Given the description of an element on the screen output the (x, y) to click on. 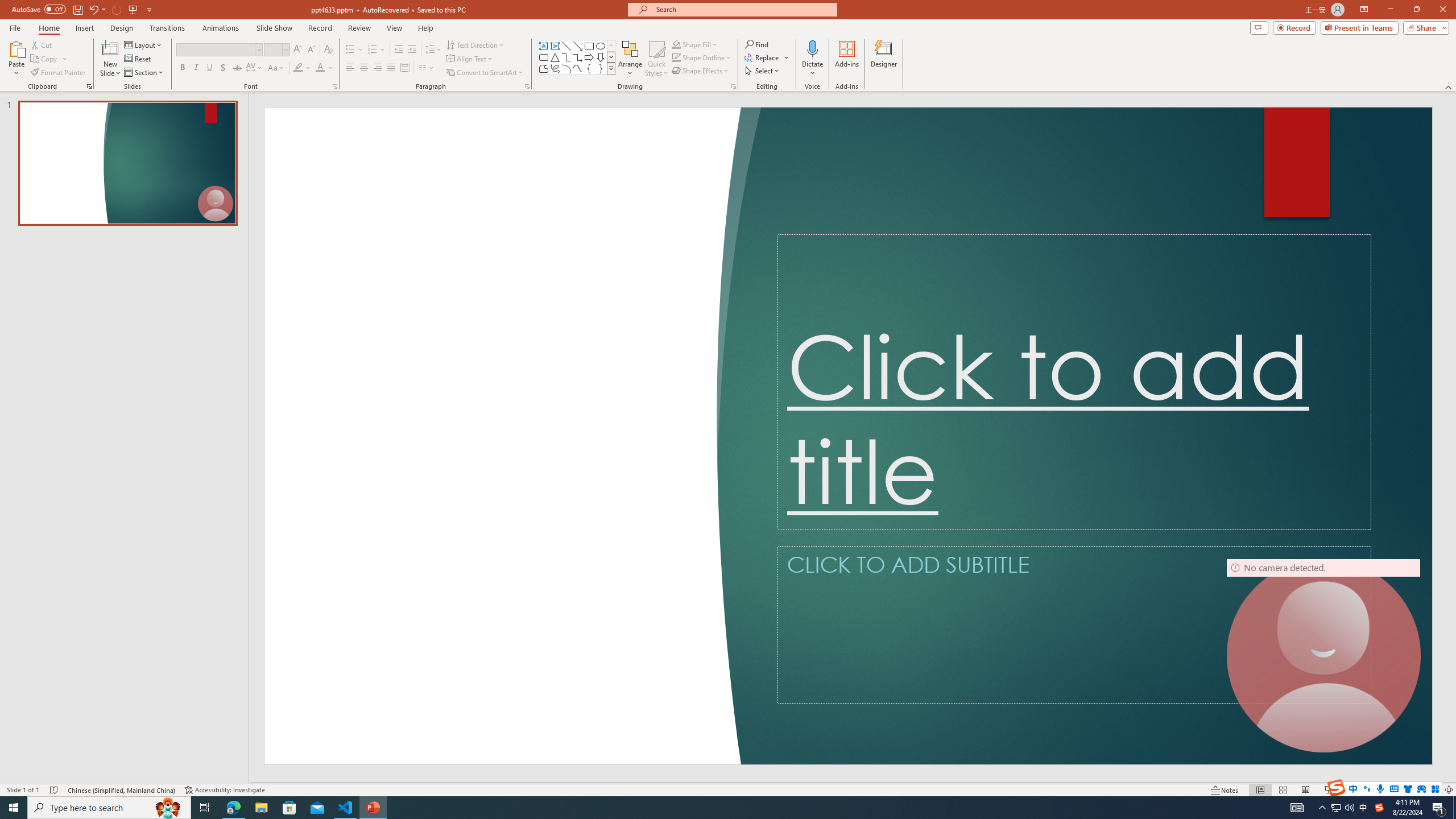
Align Text (470, 58)
